Given the description of an element on the screen output the (x, y) to click on. 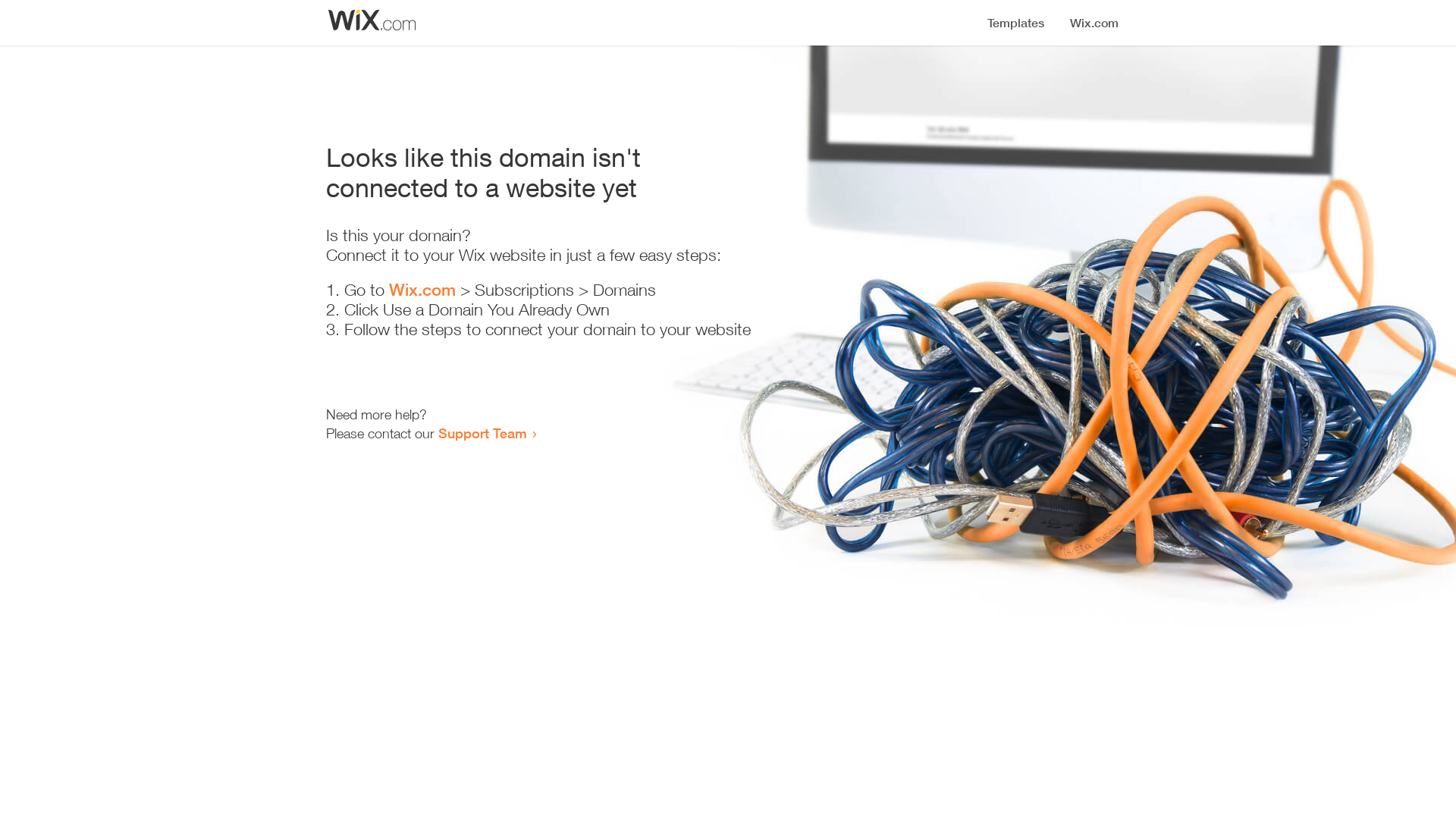
Support Team Element type: text (482, 432)
Wix.com Element type: text (422, 289)
